Given the description of an element on the screen output the (x, y) to click on. 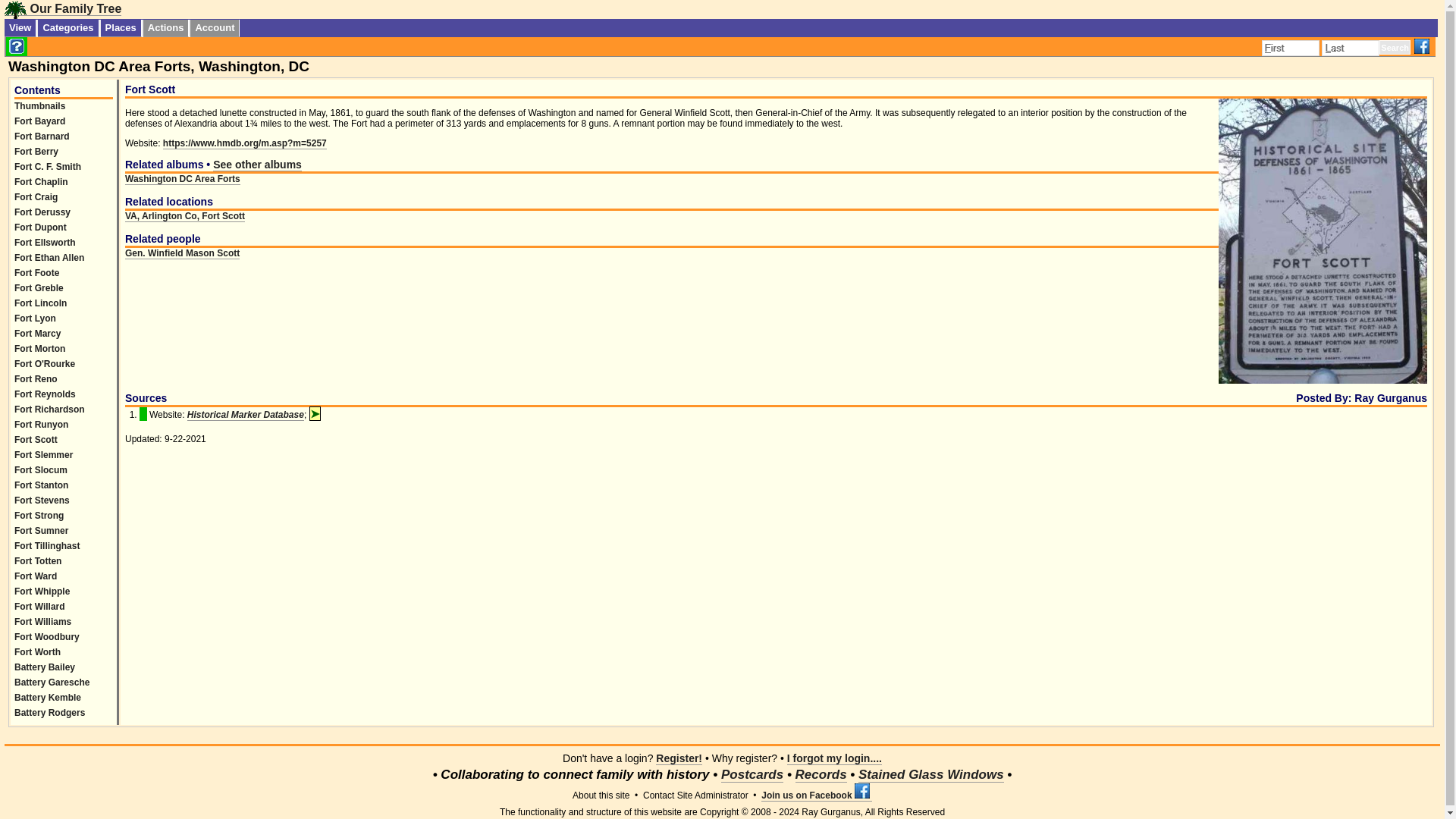
Register or login to access these features (214, 27)
Our Family Tree (62, 8)
Register or login to access these features (165, 27)
Share on Facebook (1422, 45)
View (20, 27)
Categories (68, 27)
Help (16, 46)
Search (1394, 47)
